Given the description of an element on the screen output the (x, y) to click on. 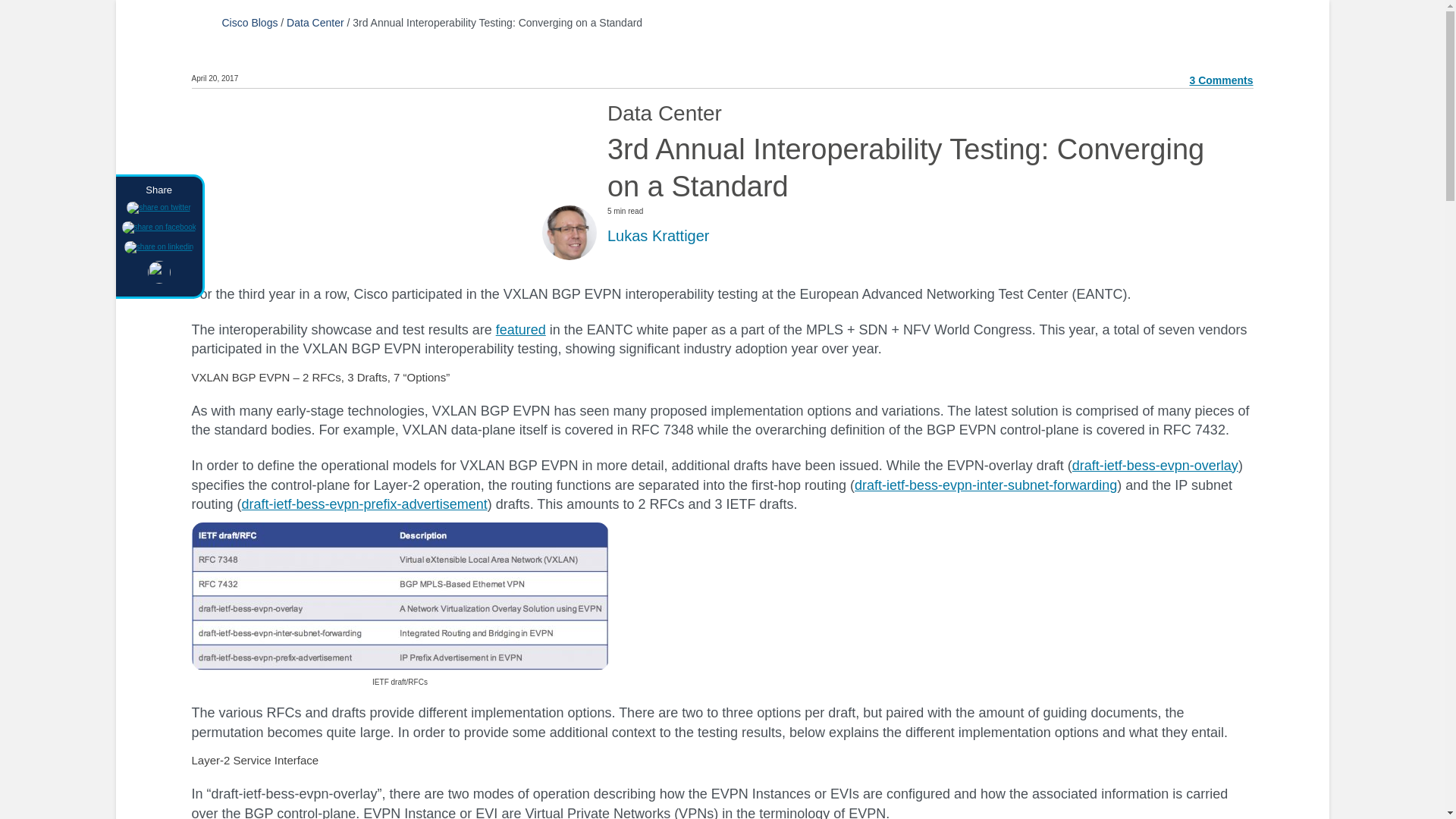
featured (521, 329)
Posts by Lukas Krattiger (658, 235)
Lukas Krattiger (658, 235)
Cisco Blogs (249, 22)
Data Center (314, 22)
draft-ietf-bess-evpn-prefix-advertisement (364, 503)
draft-ietf-bess-evpn-inter-subnet-forwarding (985, 485)
